Given the description of an element on the screen output the (x, y) to click on. 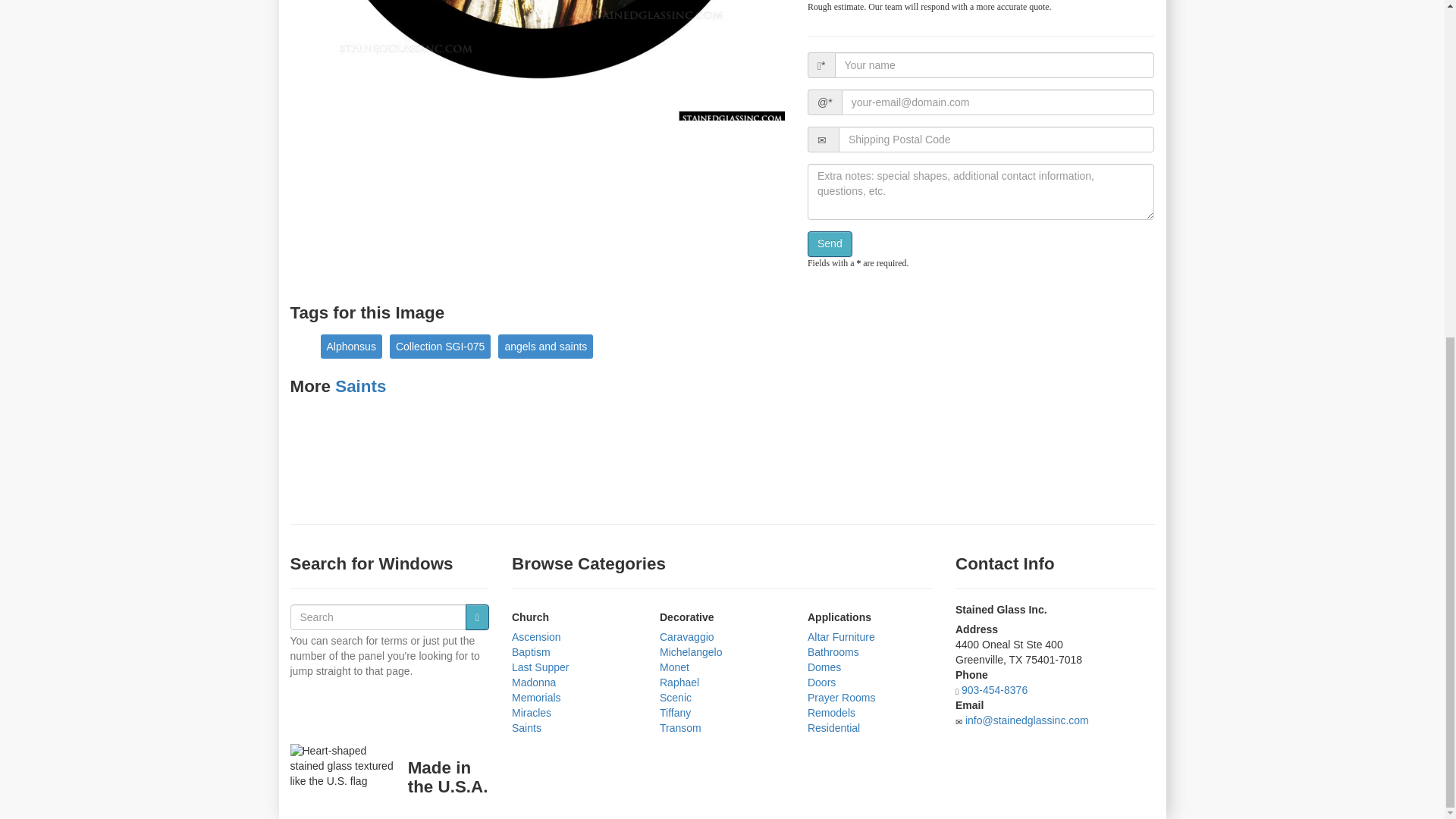
Collection SGI-075 (441, 346)
Saints (359, 385)
Ascension (536, 636)
Alphonsus (350, 346)
Baptism (531, 652)
Memorials (536, 697)
Miracles (531, 712)
Saints (526, 727)
Last Supper (540, 666)
Send (829, 243)
Madonna (534, 682)
angels and saints (544, 346)
